Given the description of an element on the screen output the (x, y) to click on. 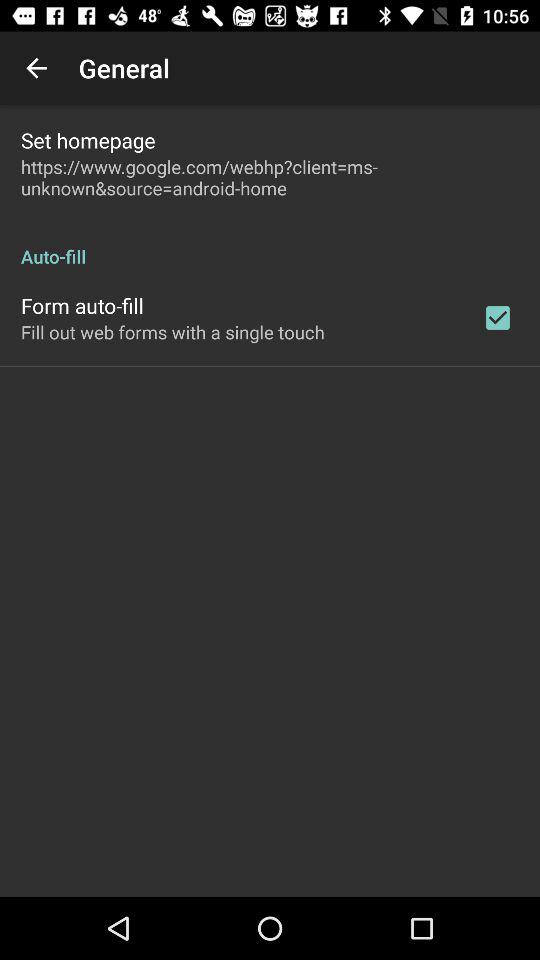
tap the item on the left (172, 331)
